Given the description of an element on the screen output the (x, y) to click on. 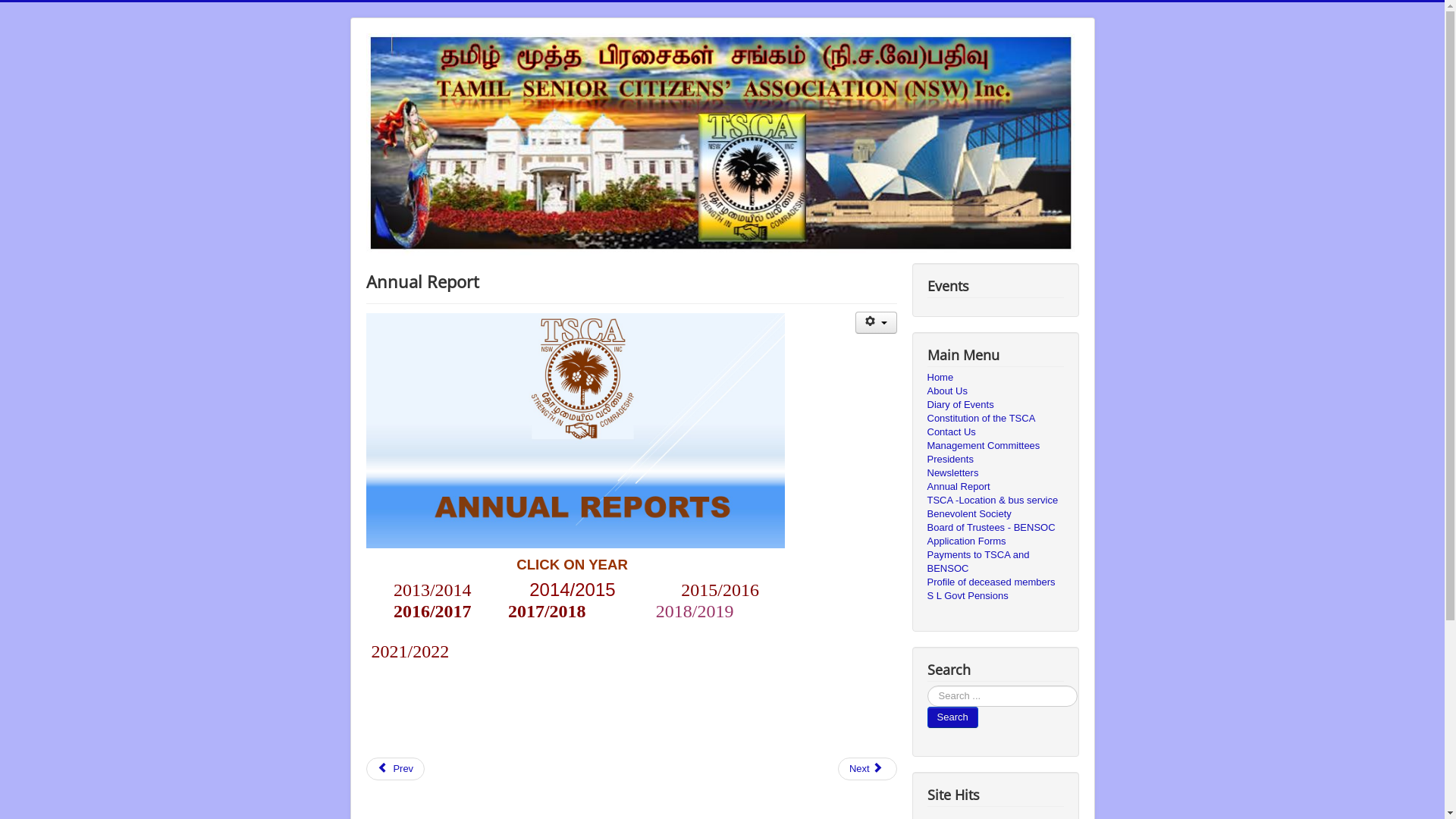
2018/2019 Element type: text (694, 611)
2013/2014 Element type: text (432, 592)
Diary of Events Element type: text (994, 404)
About Us Element type: text (994, 391)
Prev Element type: text (394, 768)
Newsletters Element type: text (994, 473)
Home Element type: text (994, 377)
2016/2017 Element type: text (432, 613)
Next Element type: text (867, 768)
Presidents Element type: text (994, 459)
2014/2015 Element type: text (572, 592)
Constitution of the TSCA Element type: text (994, 418)
Report 13/14 Element type: hover (643, 563)
             Element type: text (643, 563)
Annual Report Element type: text (994, 486)
Application Forms Element type: text (994, 541)
2021/2022 Element type: text (410, 651)
Payments to TSCA and BENSOC Element type: text (994, 561)
2015/2016 Element type: text (719, 589)
Contact Us Element type: text (994, 432)
Management Committees Element type: text (994, 445)
S L Govt Pensions Element type: text (994, 595)
TSCA -Location & bus service Element type: text (994, 500)
Search Element type: text (951, 717)
Benevolent Society Element type: text (994, 513)
2017/2018 Element type: text (547, 613)
Profile of deceased members Element type: text (994, 582)
Board of Trustees - BENSOC Element type: text (994, 527)
